Given the description of an element on the screen output the (x, y) to click on. 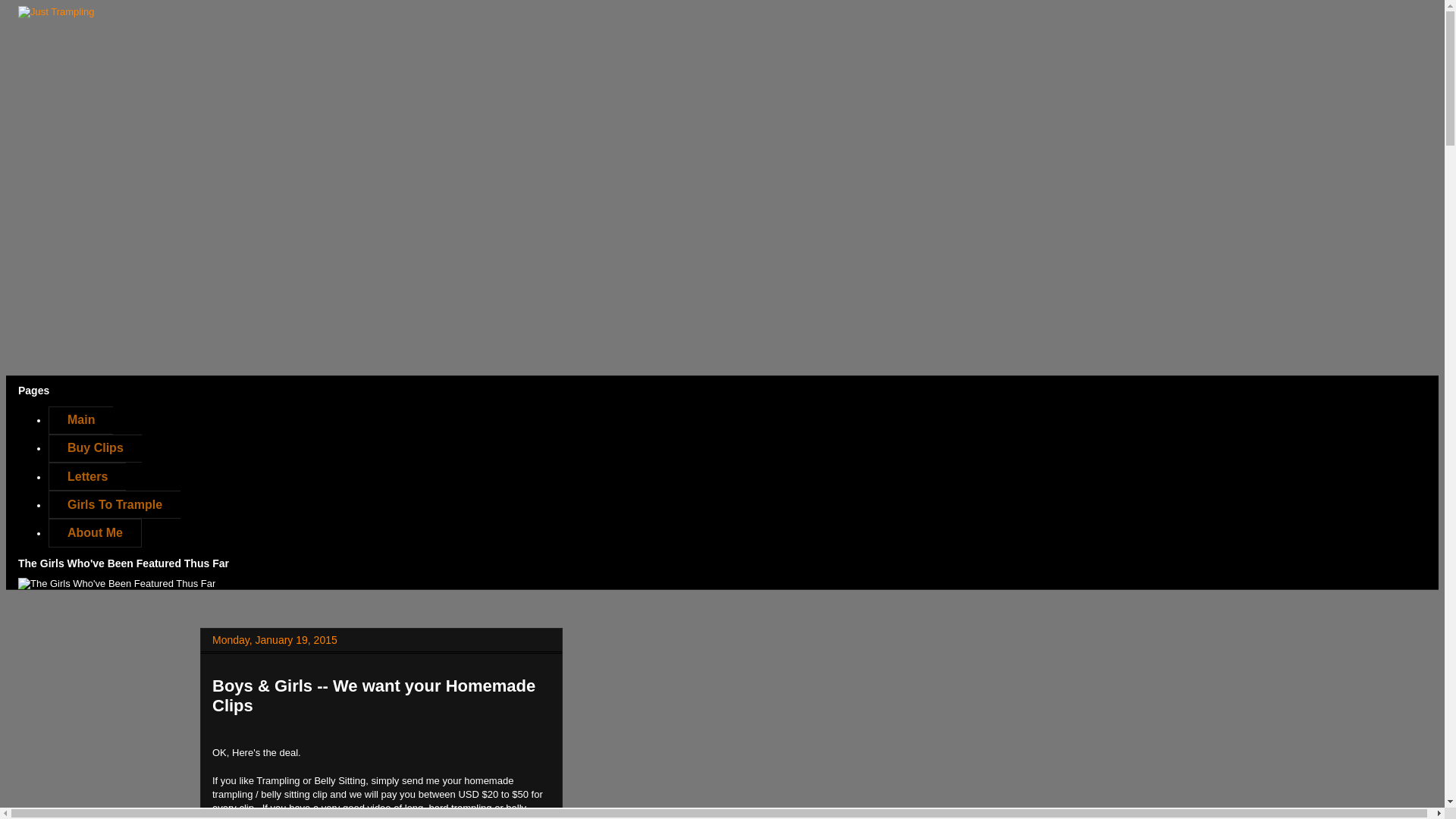
About Me (94, 532)
Buy Clips (94, 448)
Girls To Trample (114, 504)
Main (80, 420)
Letters (86, 476)
